Given the description of an element on the screen output the (x, y) to click on. 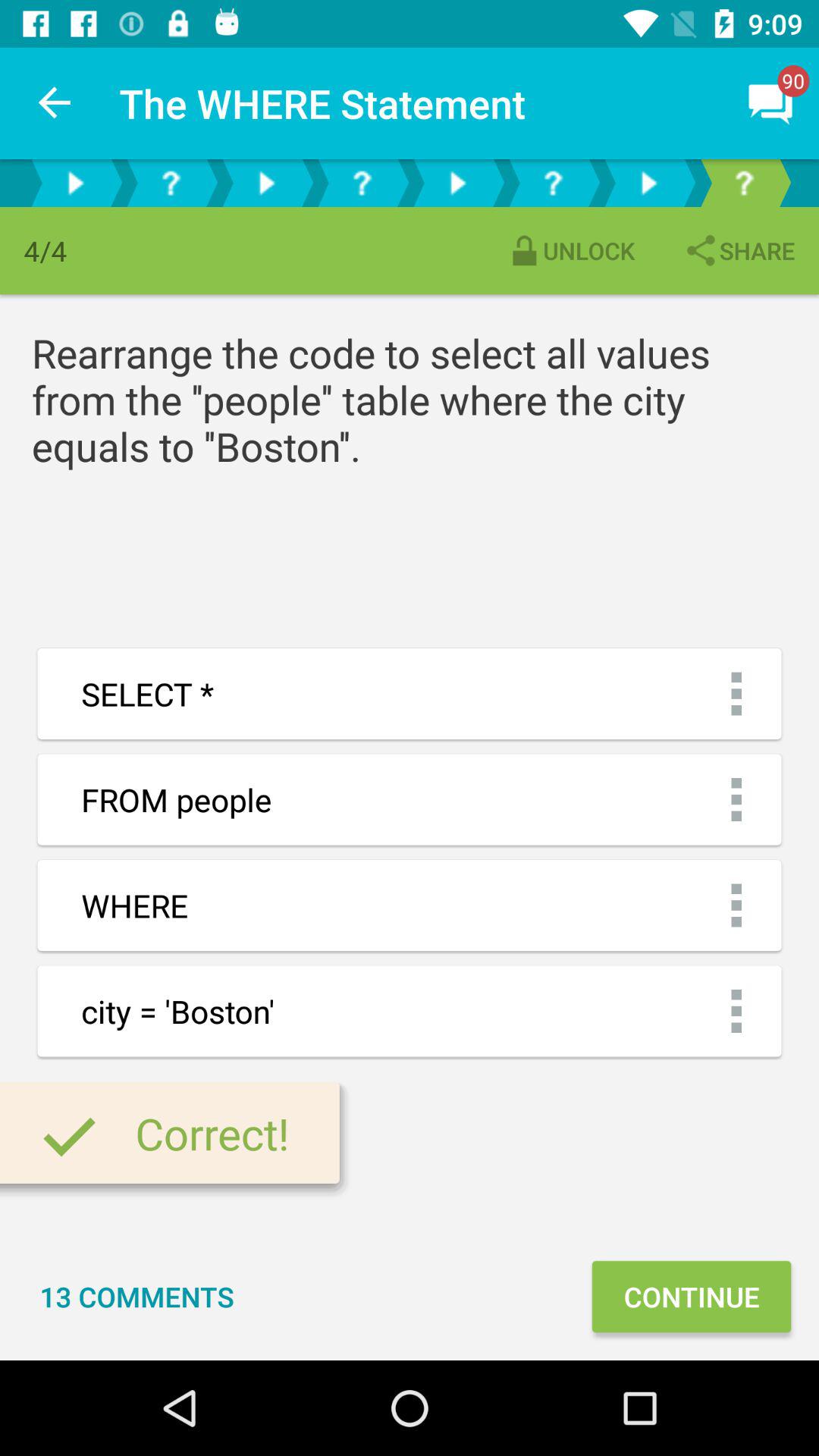
launch icon to the left of the continue (136, 1296)
